Given the description of an element on the screen output the (x, y) to click on. 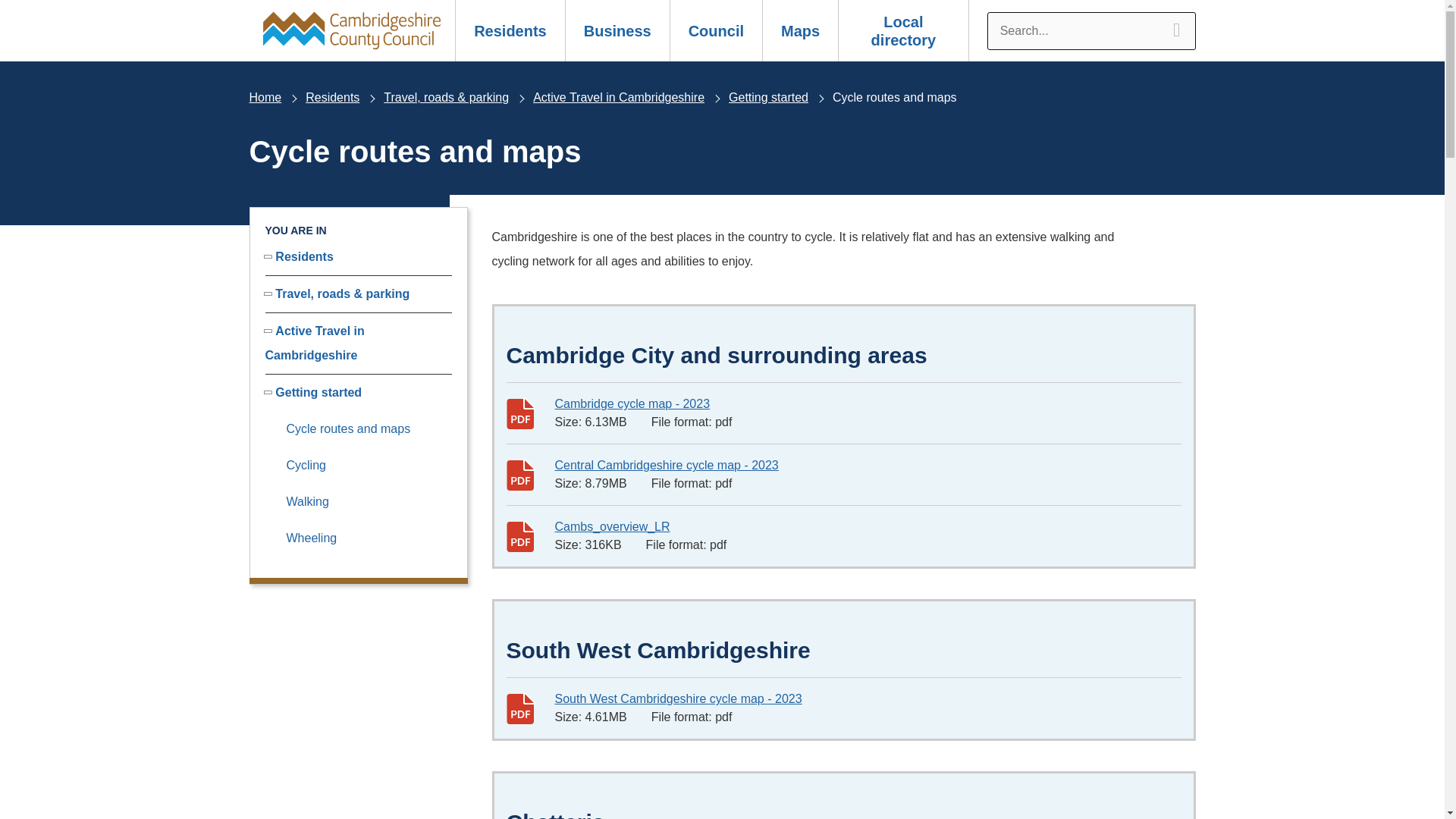
Residents (510, 31)
Business (616, 31)
Getting started (768, 97)
Local directory (903, 31)
Active Travel in Cambridgeshire (618, 97)
Residents (332, 97)
Search Site (1091, 30)
Council (716, 31)
Maps (799, 31)
Home (264, 97)
